Given the description of an element on the screen output the (x, y) to click on. 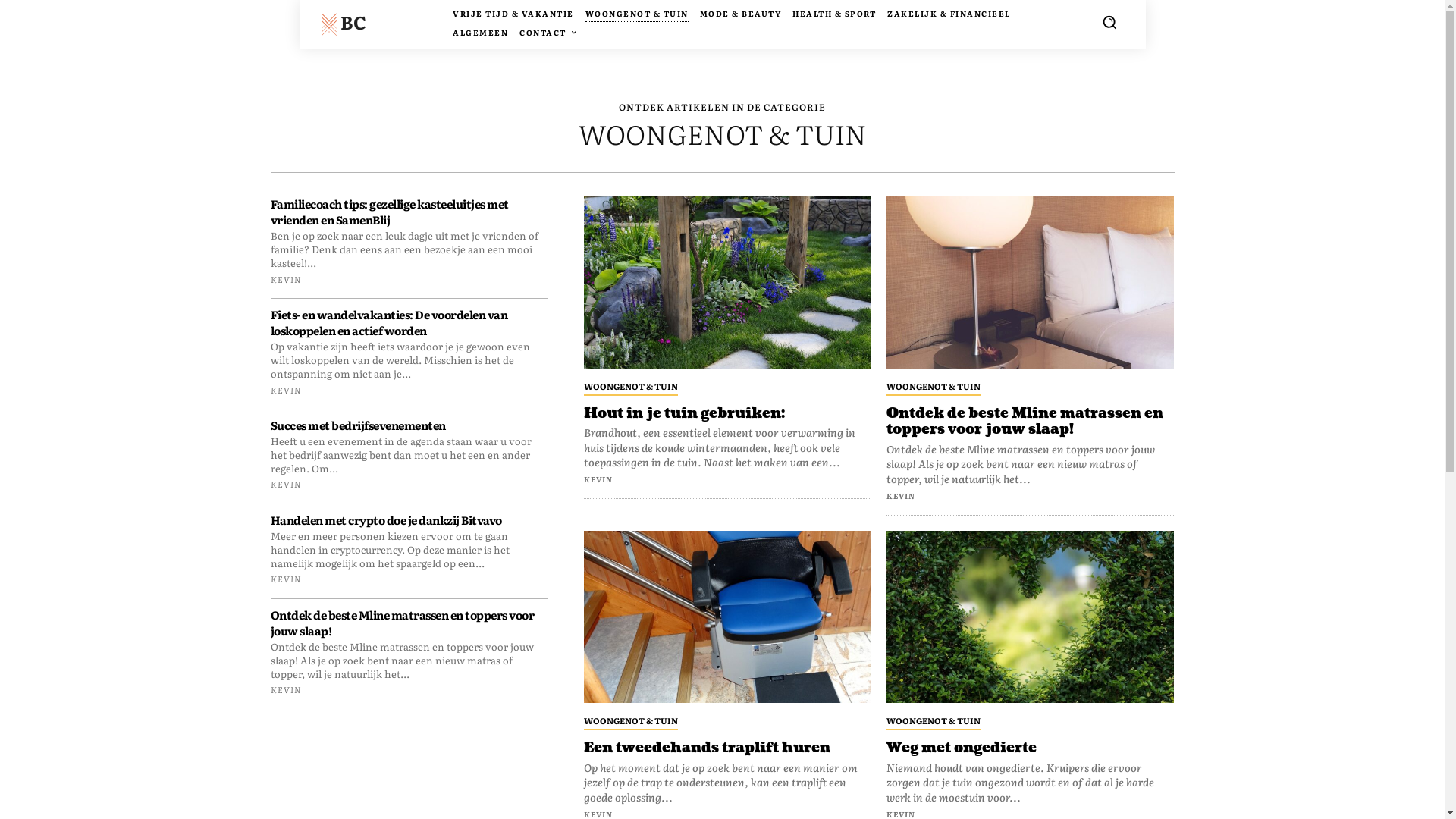
HEALTH & SPORT Element type: text (833, 13)
WOONGENOT & TUIN Element type: text (636, 13)
ZAKELIJK & FINANCIEEL Element type: text (948, 13)
BC Element type: text (366, 21)
KEVIN Element type: text (597, 478)
ALGEMEEN Element type: text (480, 32)
VRIJE TIJD & VAKANTIE Element type: text (513, 13)
Hout in je tuin gebruiken: Element type: text (683, 413)
WOONGENOT & TUIN Element type: text (933, 721)
CONTACT Element type: text (548, 32)
Ontdek de beste Mline matrassen en toppers voor jouw slaap! Element type: hover (1029, 281)
Weg met ongedierte Element type: text (961, 747)
Ontdek de beste Mline matrassen en toppers voor jouw slaap! Element type: text (1024, 421)
WOONGENOT & TUIN Element type: text (630, 721)
KEVIN Element type: text (284, 689)
Weg met ongedierte Element type: hover (1029, 616)
KEVIN Element type: text (284, 483)
Handelen met crypto doe je dankzij Bitvavo Element type: text (385, 519)
KEVIN Element type: text (284, 389)
Een tweedehands traplift huren Element type: hover (727, 616)
KEVIN Element type: text (900, 495)
Succes met bedrijfsevenementen Element type: text (357, 424)
WOONGENOT & TUIN Element type: text (630, 386)
KEVIN Element type: text (284, 279)
KEVIN Element type: text (284, 578)
MODE & BEAUTY Element type: text (740, 13)
WOONGENOT & TUIN Element type: text (933, 386)
Een tweedehands traplift huren Element type: text (706, 747)
Ontdek de beste Mline matrassen en toppers voor jouw slaap! Element type: text (401, 622)
Hout in je tuin gebruiken: Element type: hover (727, 281)
